Given the description of an element on the screen output the (x, y) to click on. 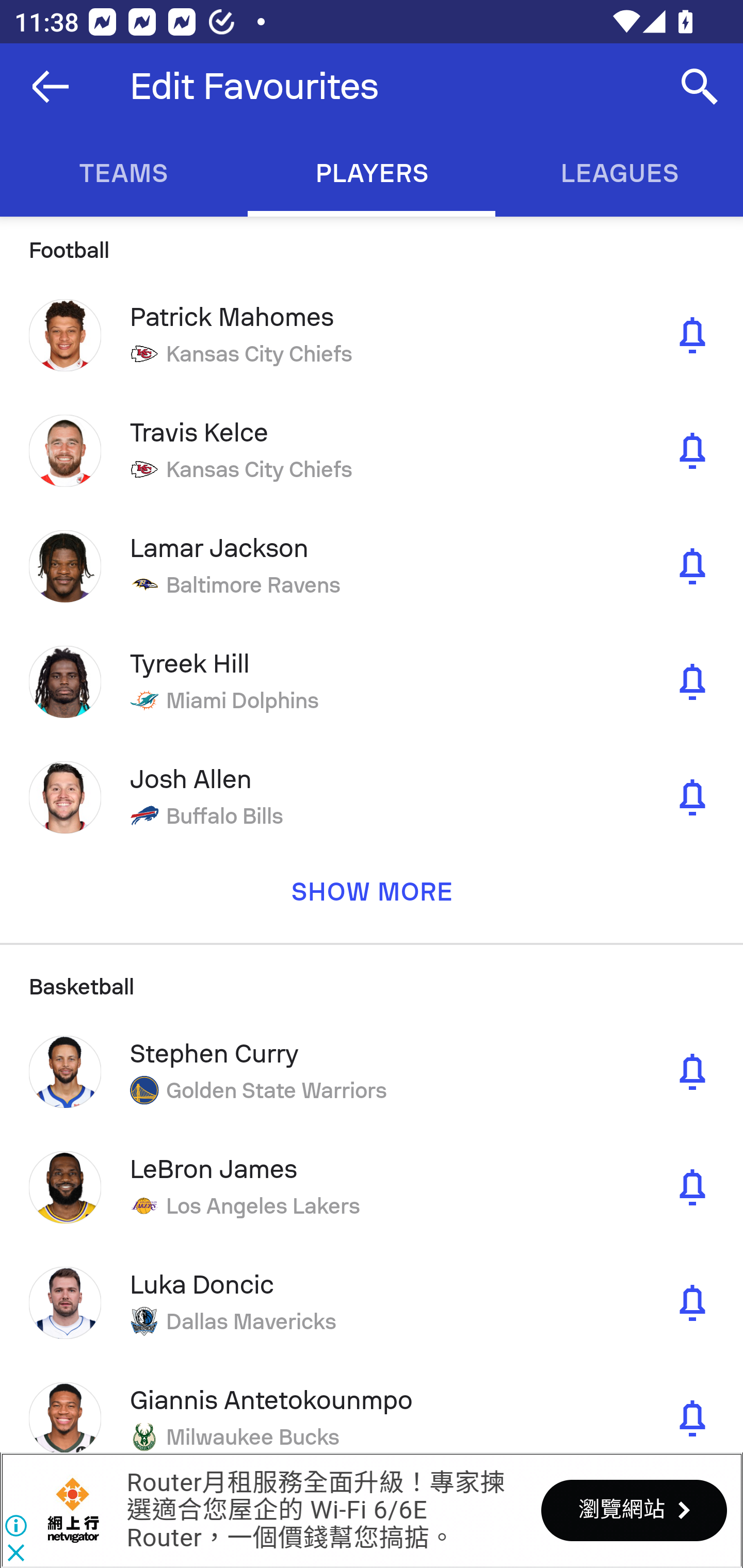
Navigate up (50, 86)
Search (699, 86)
Teams TEAMS (123, 173)
Leagues LEAGUES (619, 173)
Football (371, 246)
Patrick Mahomes Kansas City Chiefs (371, 335)
Travis Kelce Kansas City Chiefs (371, 450)
Lamar Jackson Baltimore Ravens (371, 566)
Tyreek Hill Miami Dolphins (371, 682)
Josh Allen Buffalo Bills (371, 797)
SHOW MORE (371, 898)
Basketball (371, 978)
Stephen Curry Golden State Warriors (371, 1071)
LeBron James Los Angeles Lakers (371, 1186)
Luka Doncic Dallas Mavericks (371, 1302)
Giannis Antetokounmpo Milwaukee Bucks (371, 1406)
網上行 Netvigator (73, 1510)
瀏覽網站 (634, 1509)
